Given the description of an element on the screen output the (x, y) to click on. 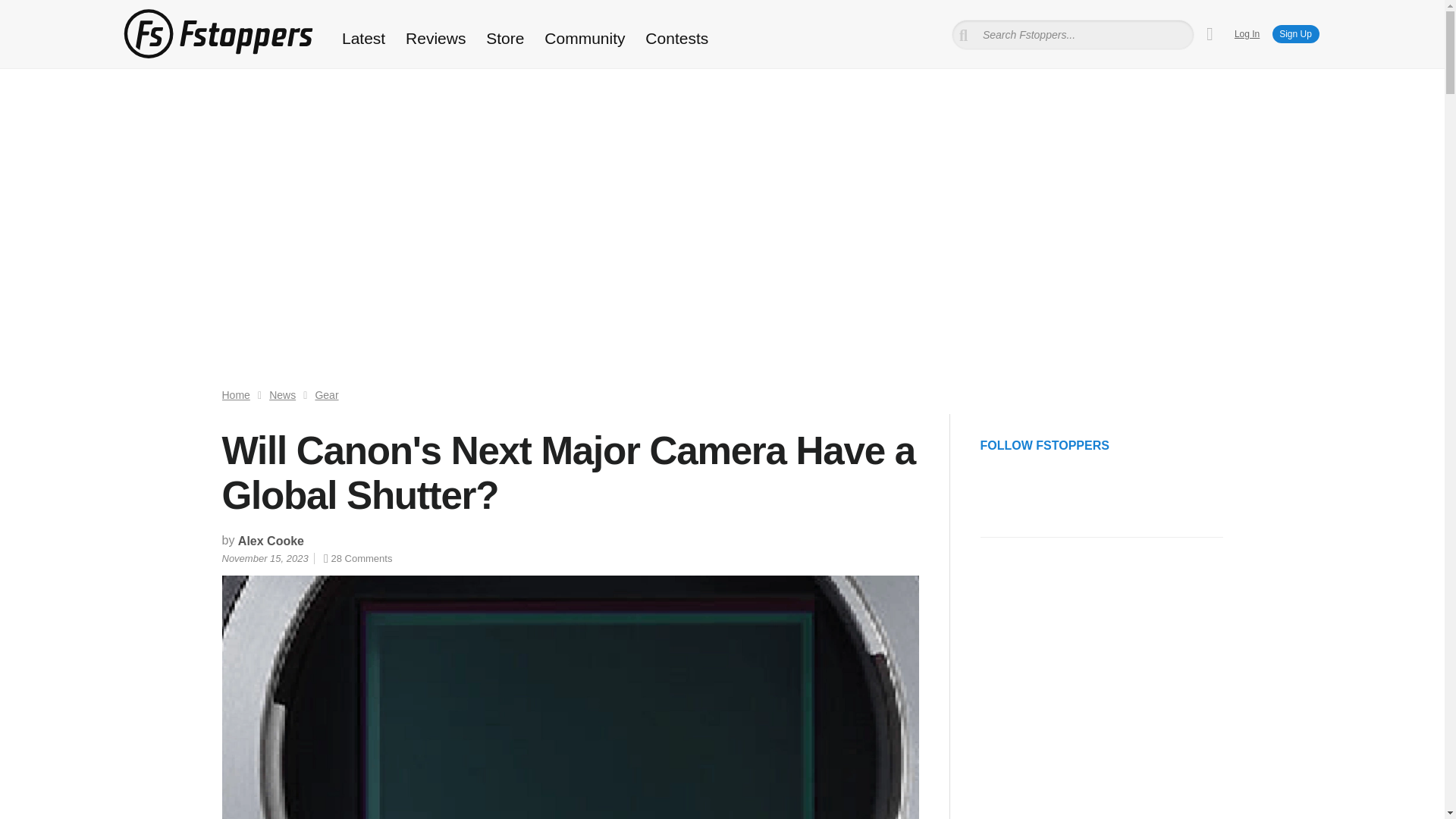
Reviews (435, 37)
Log In (1246, 33)
Contests (676, 37)
Alex Cooke (271, 540)
My Cart (1209, 34)
News (282, 395)
28 Comments (357, 558)
Home (234, 395)
Community (585, 37)
Sign Up (1295, 34)
Search (32, 11)
Fstoppers (217, 33)
Gear (325, 395)
